Given the description of an element on the screen output the (x, y) to click on. 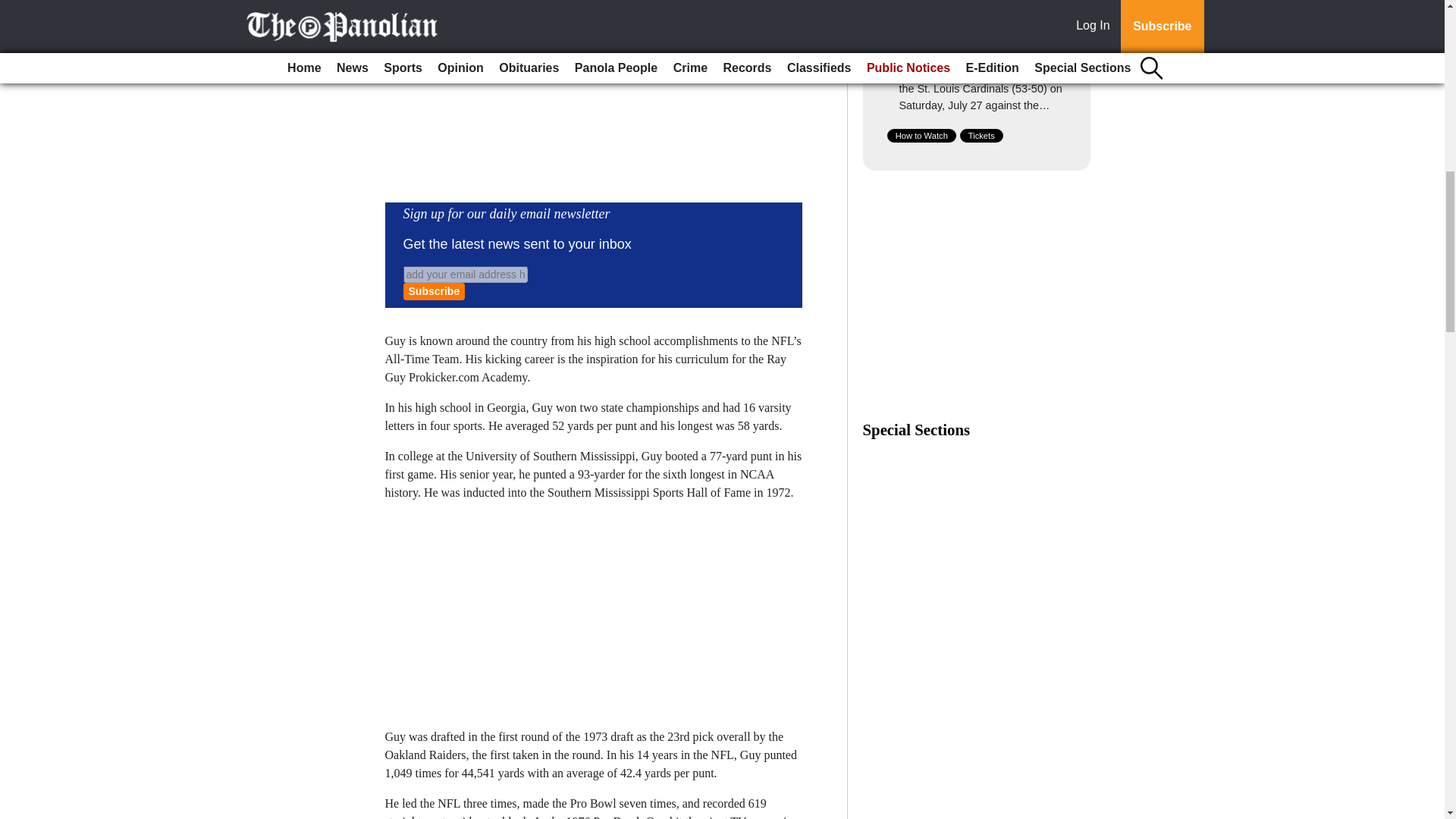
Tickets (981, 135)
Subscribe (434, 291)
How to Watch (921, 135)
Cardinals vs. Nationals: Betting Preview for July 27 (981, 44)
Subscribe (434, 291)
